Given the description of an element on the screen output the (x, y) to click on. 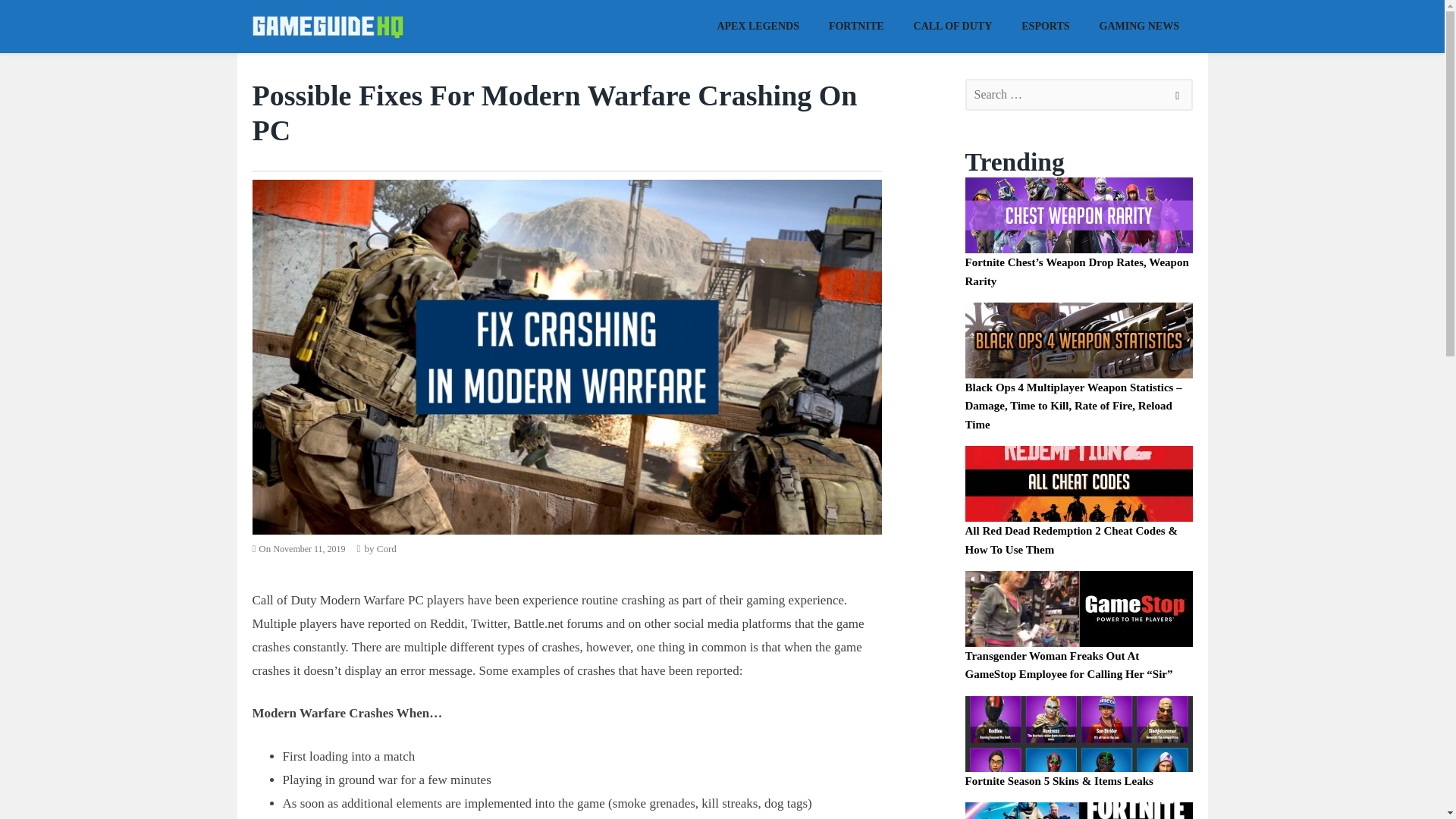
GAMING NEWS (1139, 25)
ESPORTS (1046, 25)
FORTNITE (855, 25)
APEX LEGENDS (757, 25)
November 11, 2019 (309, 548)
Cord (386, 548)
CALL OF DUTY (952, 25)
